Given the description of an element on the screen output the (x, y) to click on. 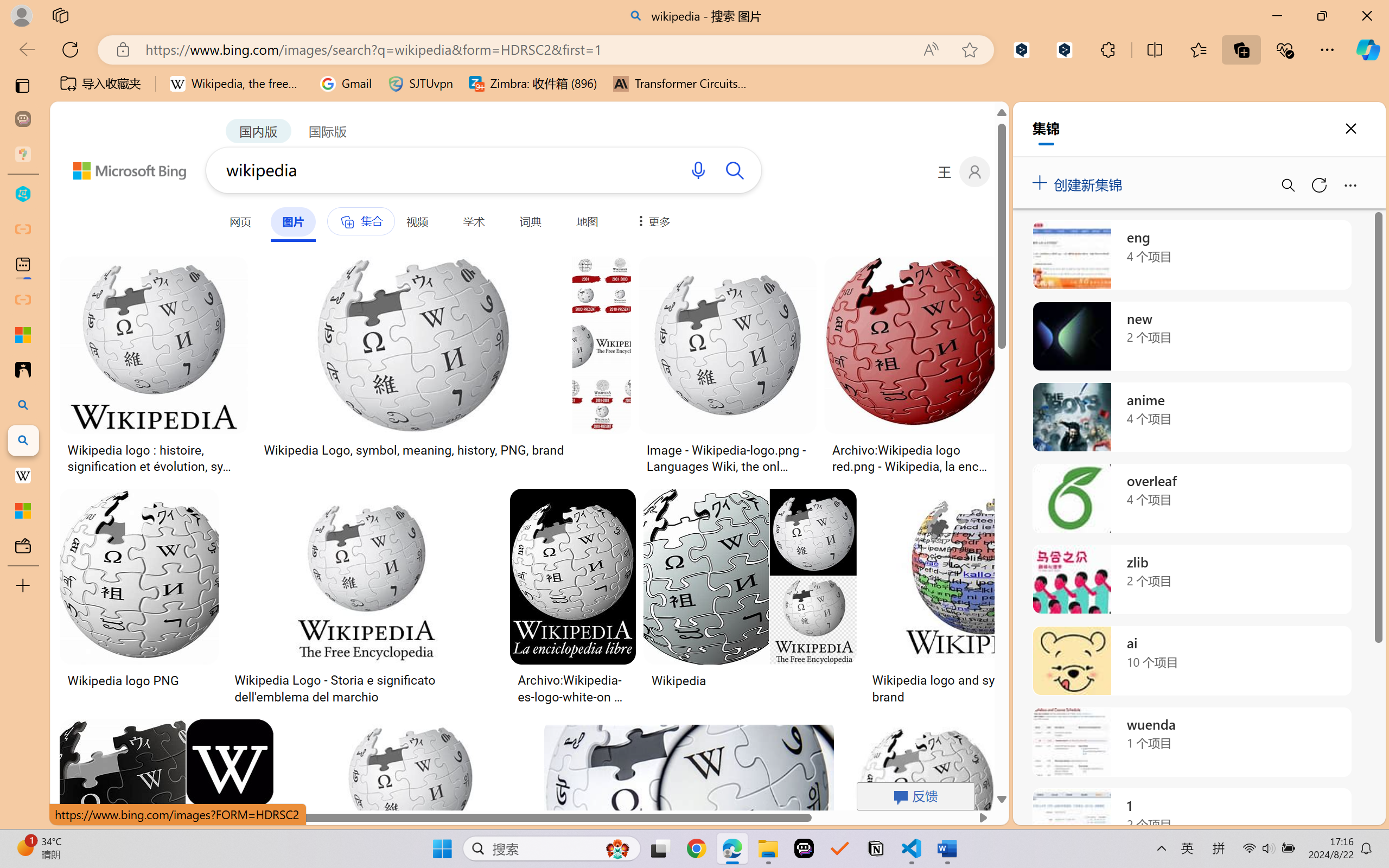
Wikipedia logo and symbol, meaning, history, PNG, brand (1026, 688)
